Given the description of an element on the screen output the (x, y) to click on. 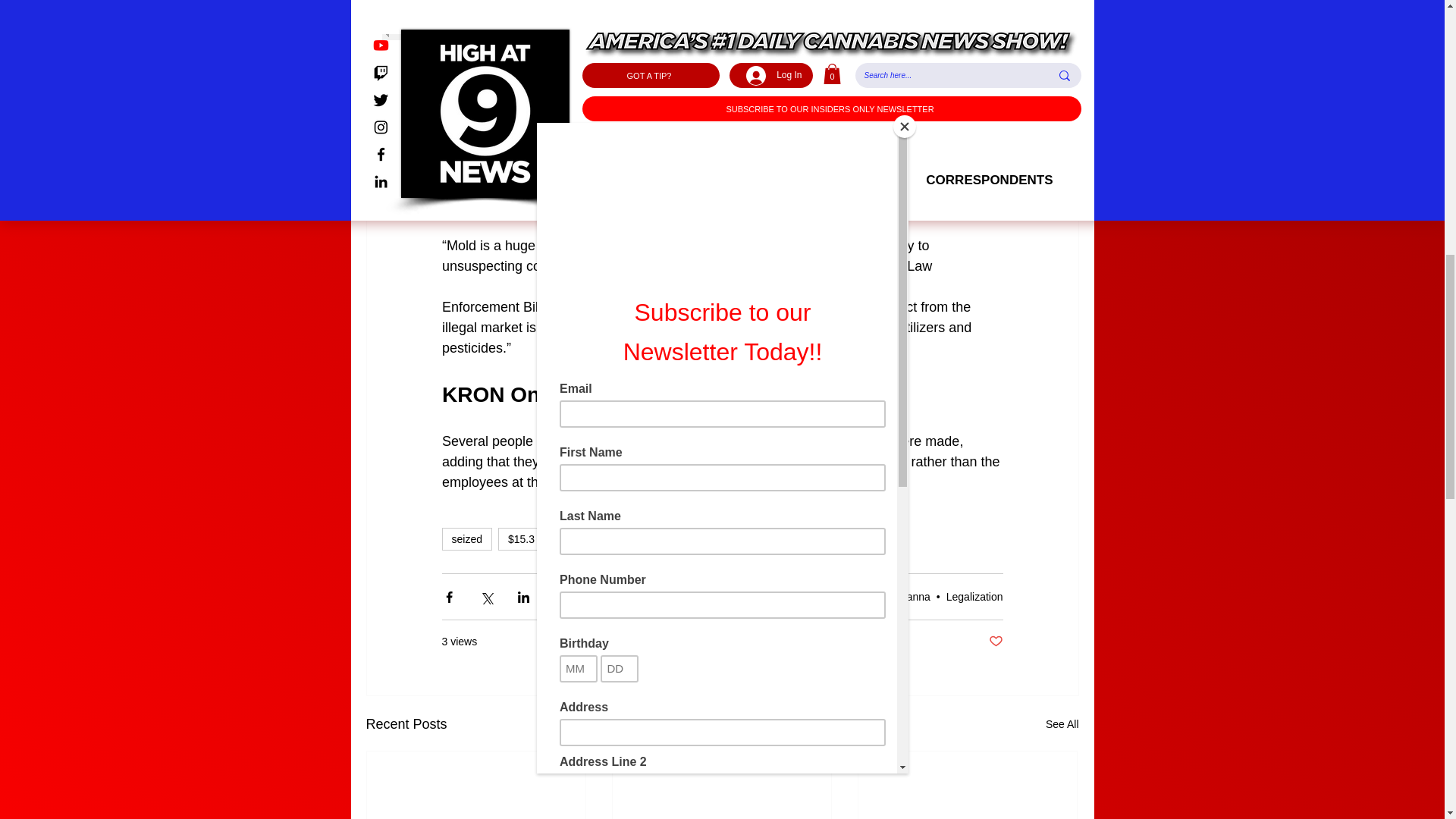
Fatal shooting closes Powell Street BART station entrance (617, 122)
seized (466, 538)
